Given the description of an element on the screen output the (x, y) to click on. 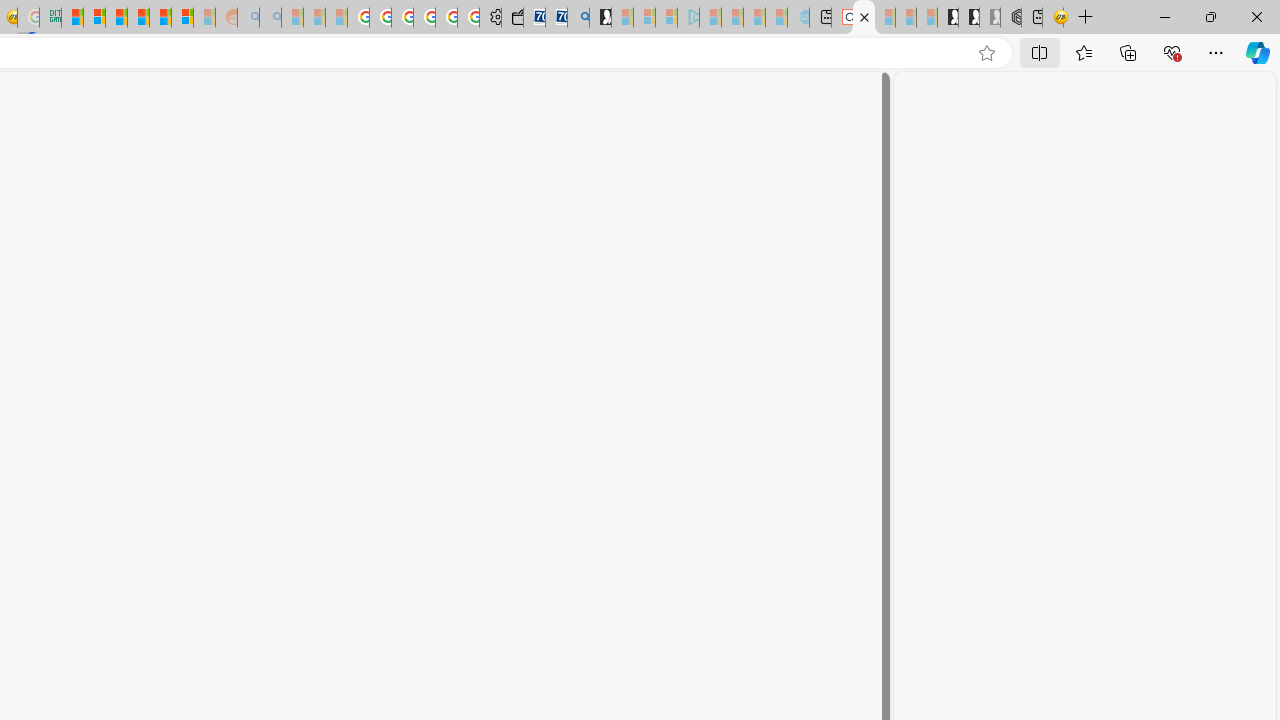
Home | Sky Blue Bikes - Sky Blue Bikes - Sleeping (798, 17)
Utah sues federal government - Search - Sleeping (270, 17)
Microsoft account | Privacy - Sleeping (666, 17)
Microsoft account | Privacy (94, 17)
Minimize (1164, 16)
Favorites (1083, 52)
New tab (1031, 17)
Microsoft Start - Sleeping (754, 17)
Bing Real Estate - Home sales and rental listings (578, 17)
